Given the description of an element on the screen output the (x, y) to click on. 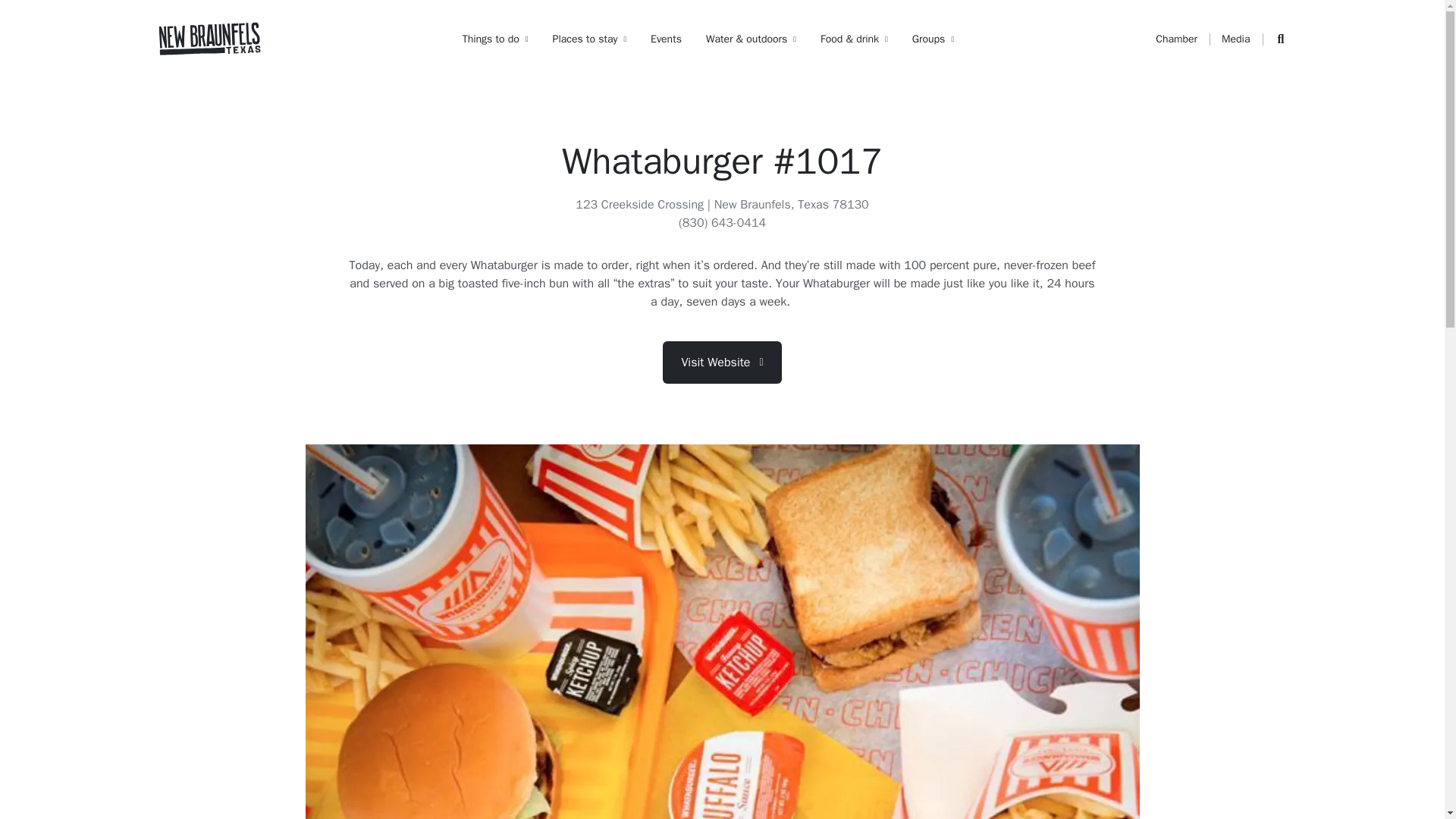
Groups (932, 39)
Things to do (495, 39)
Media (1235, 39)
Events (665, 39)
Chamber (1176, 39)
Places to stay (590, 39)
Visit Website (721, 362)
